Given the description of an element on the screen output the (x, y) to click on. 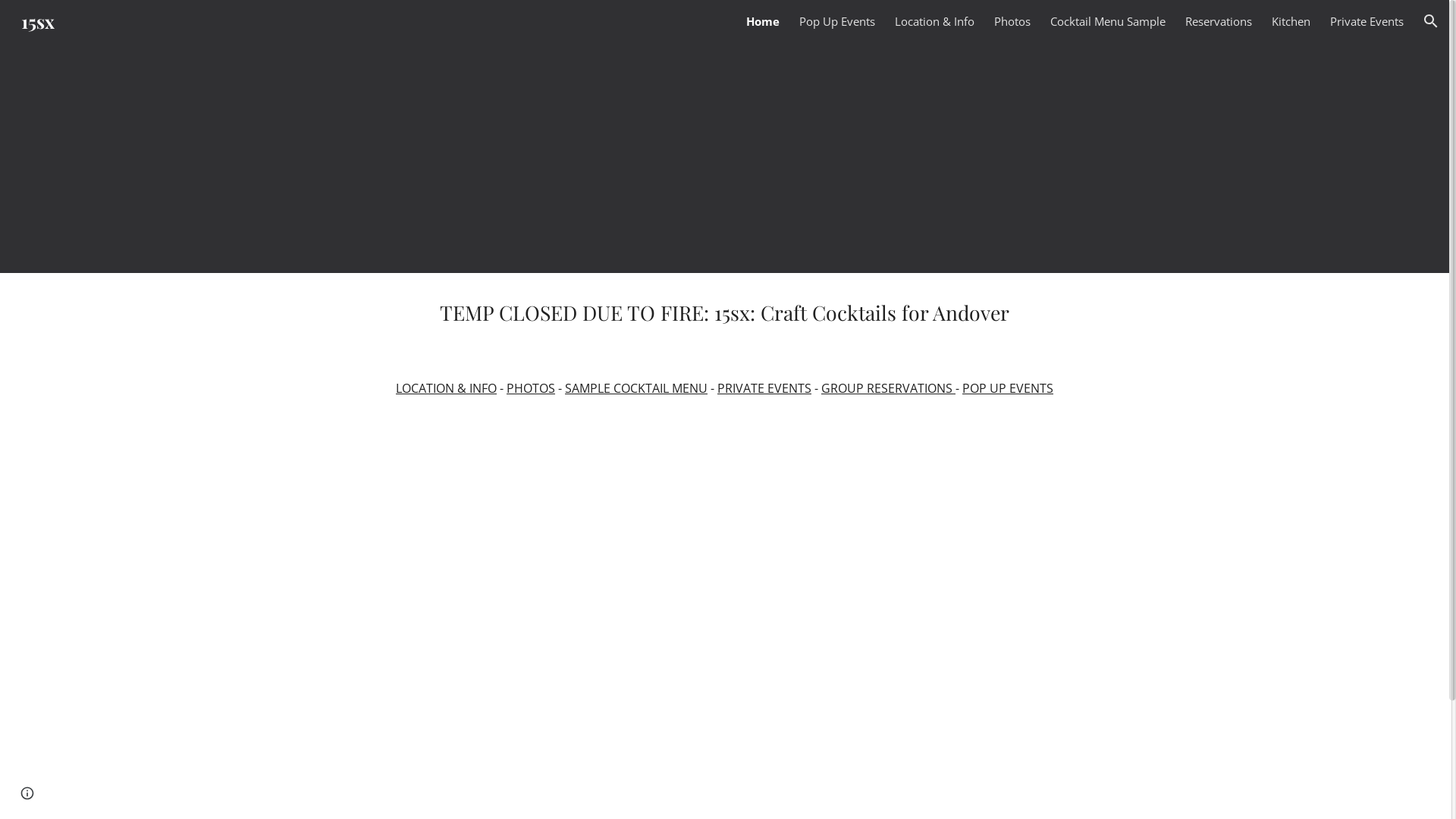
Cocktail Menu Sample Element type: text (1107, 20)
Location & Info Element type: text (934, 20)
Private Events Element type: text (1366, 20)
PRIVATE EVENTS Element type: text (764, 387)
Pop Up Events Element type: text (837, 20)
GROUP RESERVATIONS  Element type: text (888, 387)
Home Element type: text (762, 20)
Reservations Element type: text (1218, 20)
PHOTOS Element type: text (530, 387)
POP UP EVENTS Element type: text (1007, 387)
Photos Element type: text (1012, 20)
SAMPLE COCKTAIL MENU Element type: text (635, 387)
15sx Element type: text (37, 18)
Kitchen Element type: text (1290, 20)
LOCATION & INFO Element type: text (445, 387)
